Given the description of an element on the screen output the (x, y) to click on. 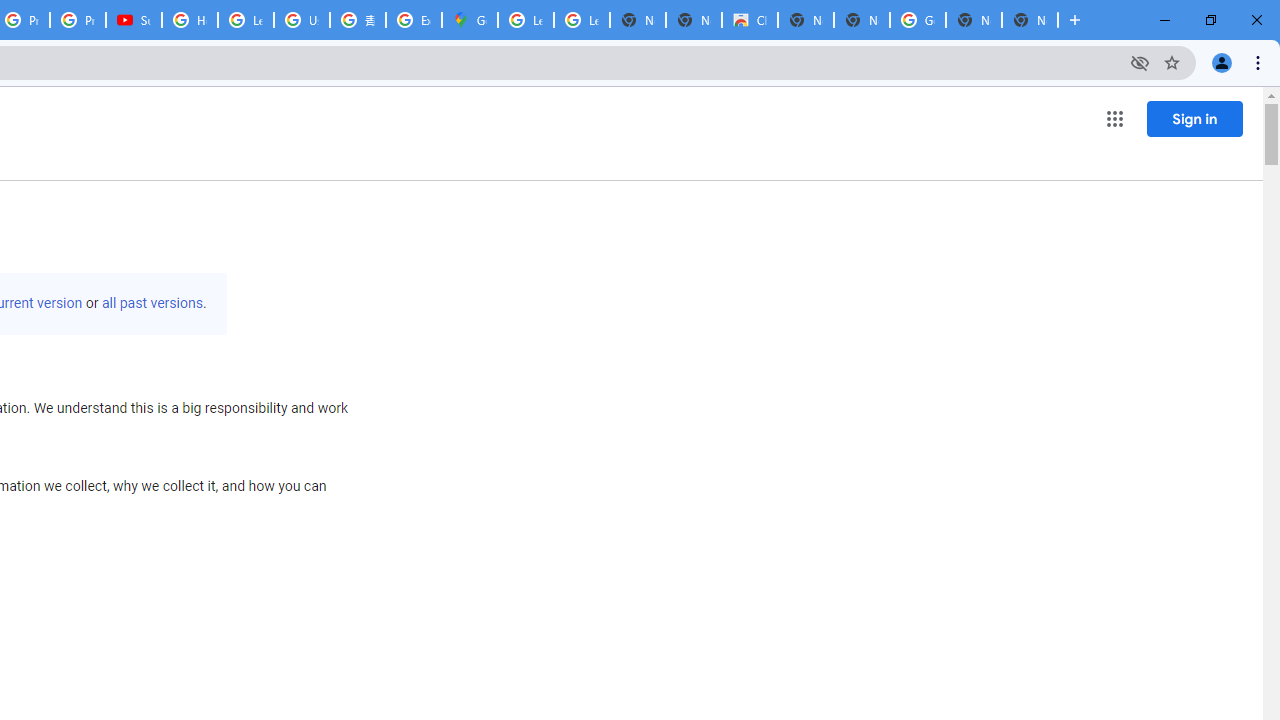
How Chrome protects your passwords - Google Chrome Help (189, 20)
Google Maps (469, 20)
Chrome Web Store (749, 20)
Google Images (917, 20)
Explore new street-level details - Google Maps Help (413, 20)
